Given the description of an element on the screen output the (x, y) to click on. 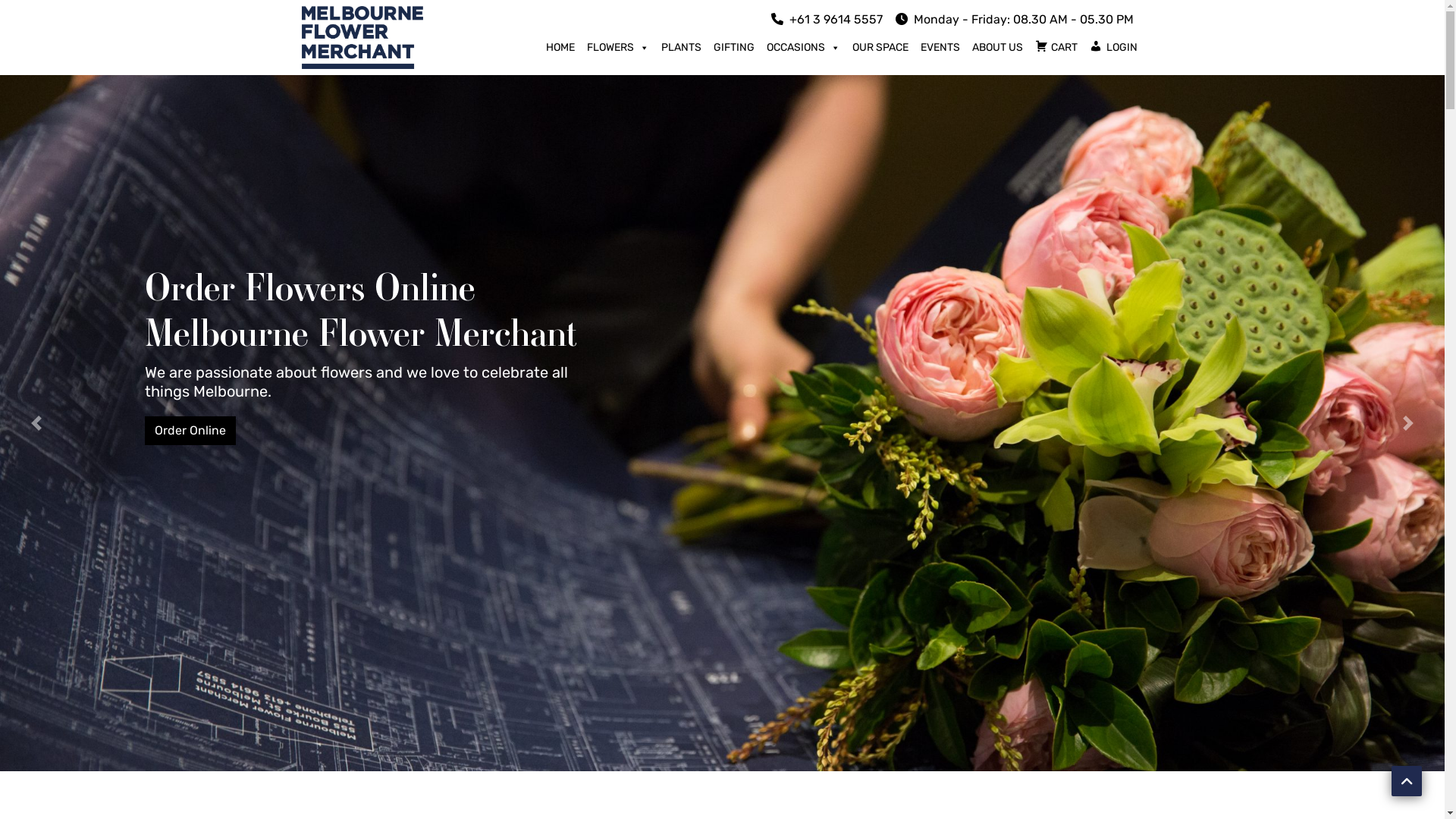
OUR SPACE Element type: text (880, 47)
LOGIN Element type: text (1112, 47)
CART Element type: text (1056, 47)
GIFTING Element type: text (733, 47)
EVENTS Element type: text (940, 47)
FLOWERS Element type: text (617, 47)
+61 3 9614 5557 Element type: text (825, 19)
PLANTS Element type: text (681, 47)
OCCASIONS Element type: text (803, 47)
Previous Element type: text (36, 423)
Monday - Friday: 08.30 AM - 05.30 PM Element type: text (1013, 19)
ABOUT US Element type: text (997, 47)
Next Element type: text (1408, 423)
HOME Element type: text (559, 47)
Order Online Element type: text (189, 430)
